Given the description of an element on the screen output the (x, y) to click on. 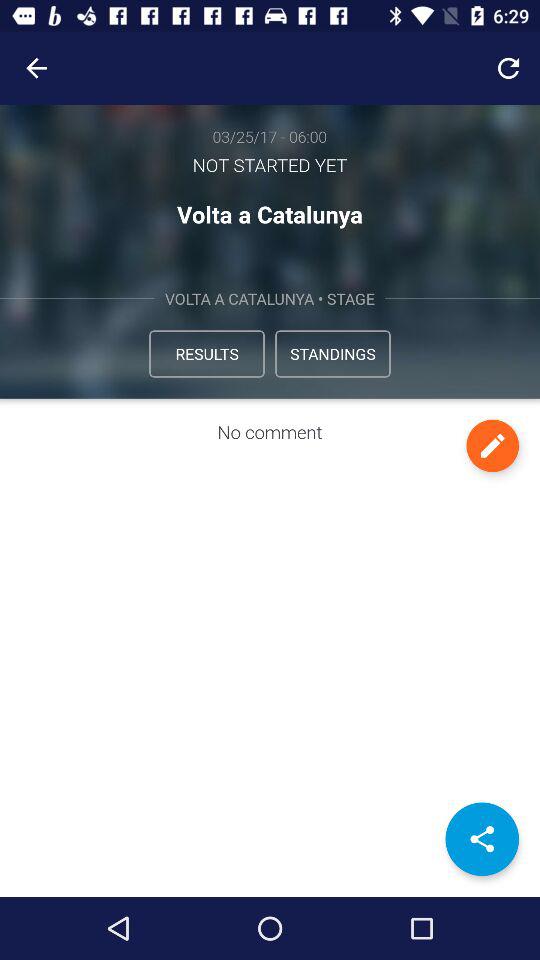
tap the icon below volta a catalunya (332, 353)
